Given the description of an element on the screen output the (x, y) to click on. 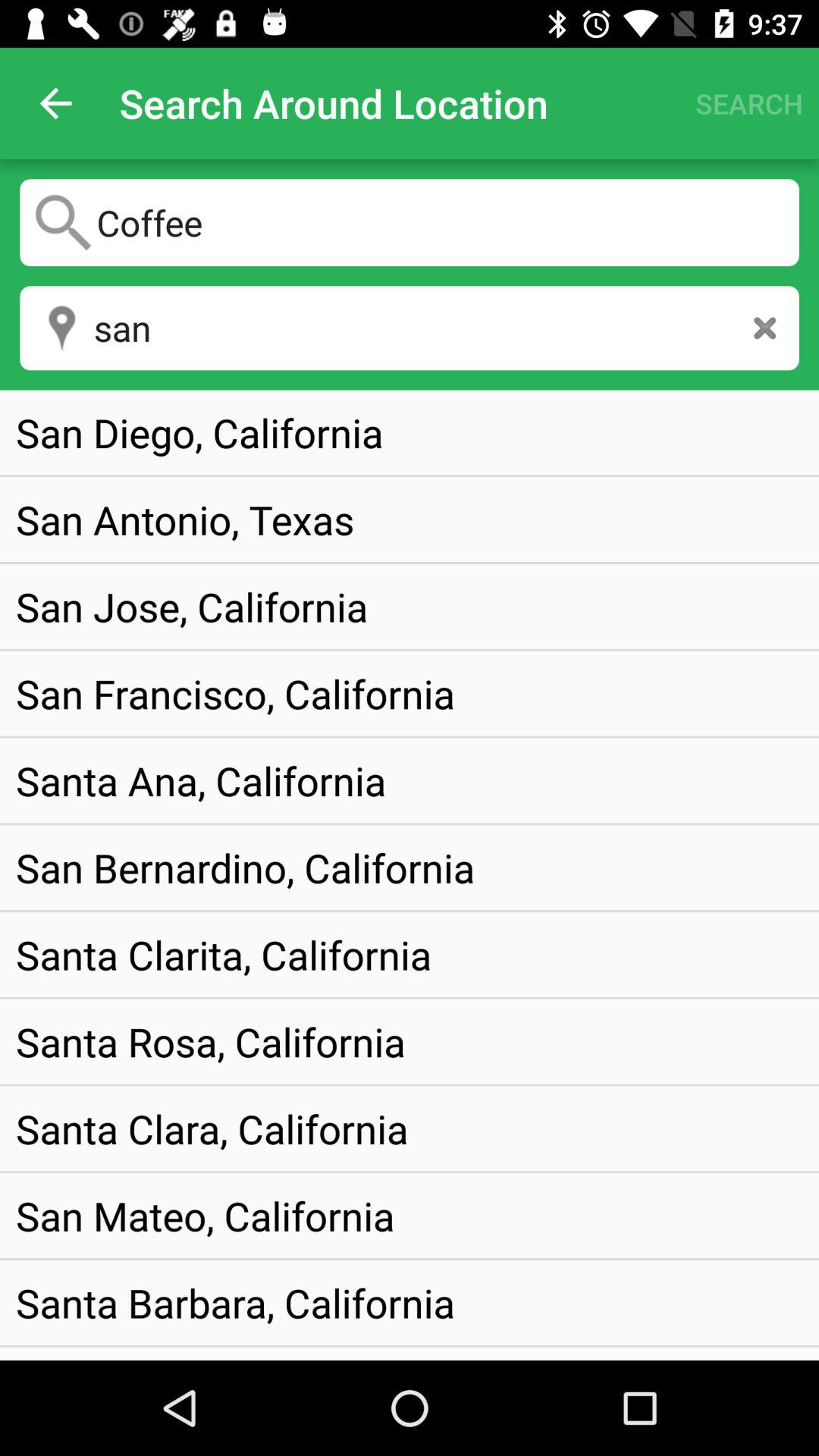
open item to the left of the search around location icon (55, 103)
